Given the description of an element on the screen output the (x, y) to click on. 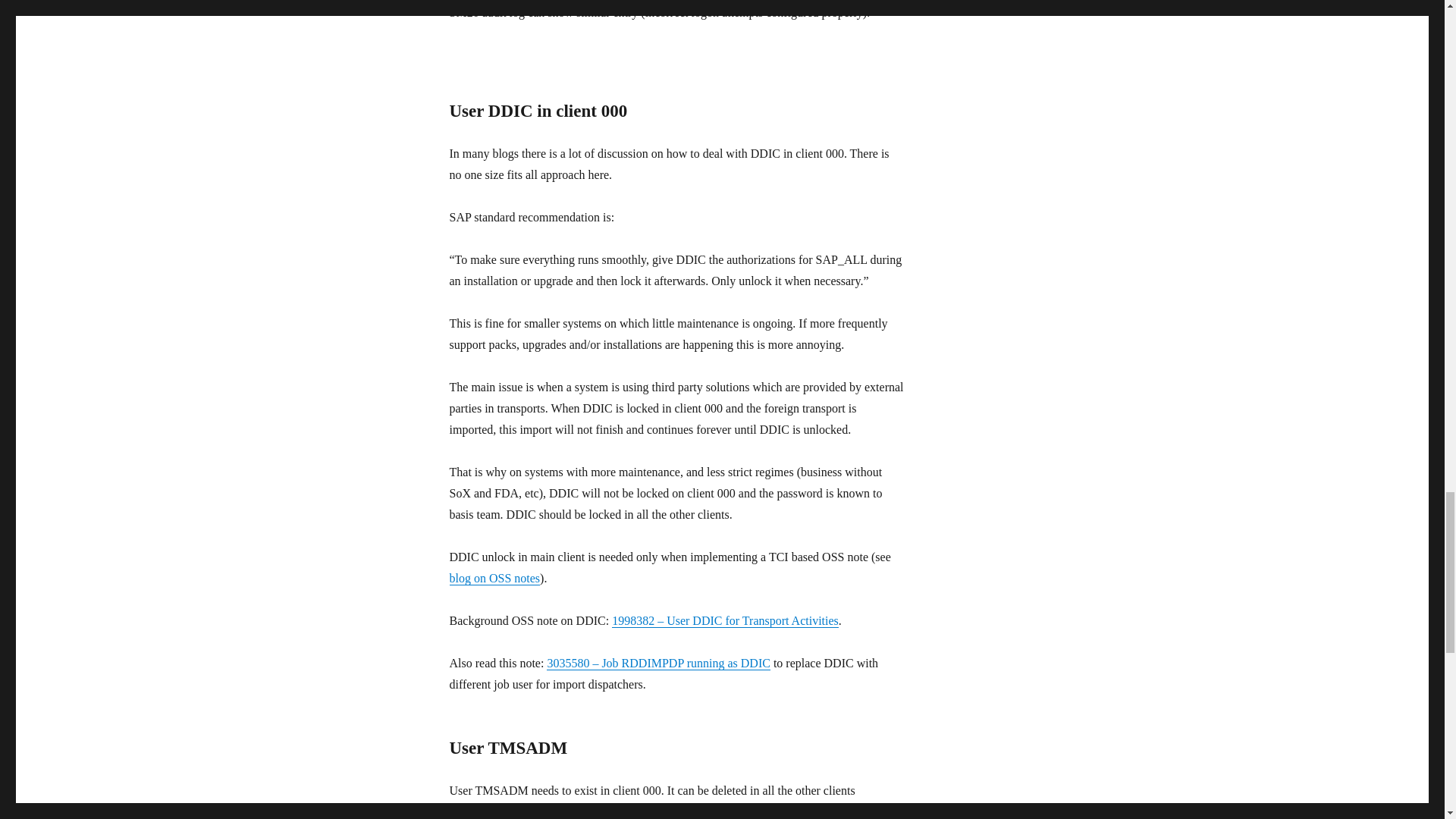
blog on OSS notes (494, 577)
SAP help (707, 811)
